Given the description of an element on the screen output the (x, y) to click on. 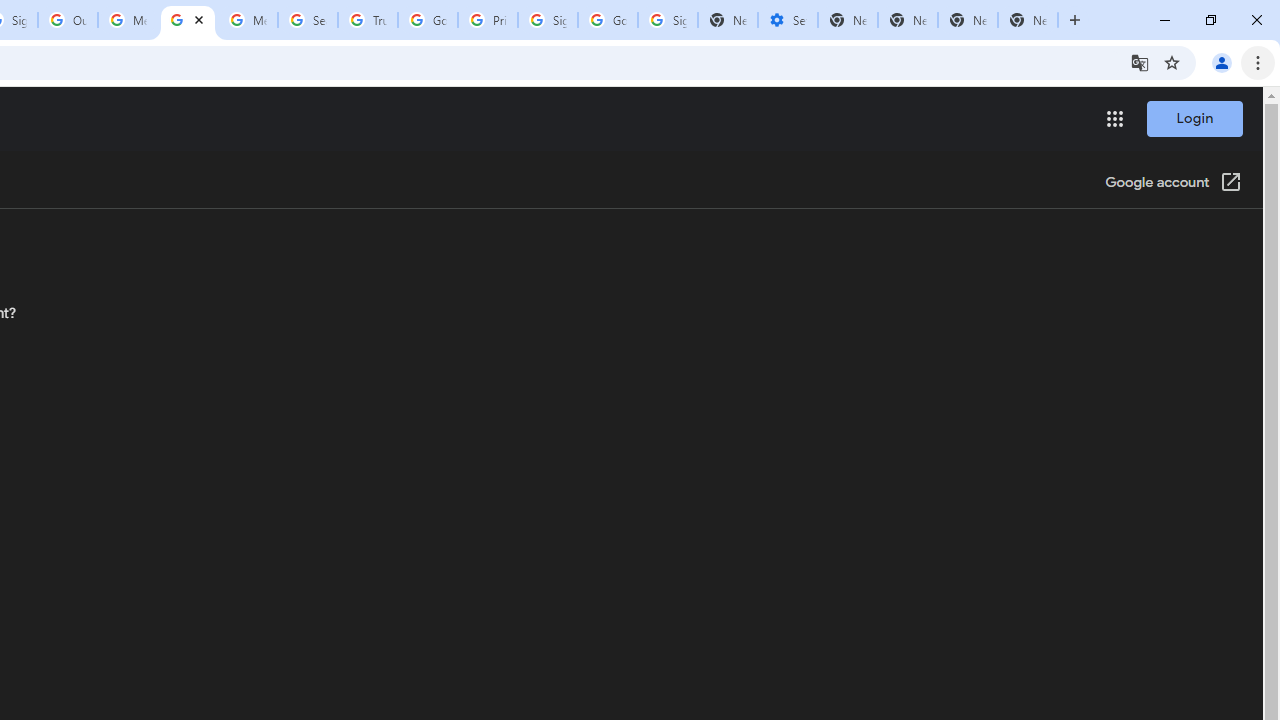
Sign in - Google Accounts (667, 20)
Translate this page (1139, 62)
Google Account (Opens in new window) (1173, 183)
Search our Doodle Library Collection - Google Doodles (307, 20)
Trusted Information and Content - Google Safety Center (367, 20)
Login (1194, 118)
